Given the description of an element on the screen output the (x, y) to click on. 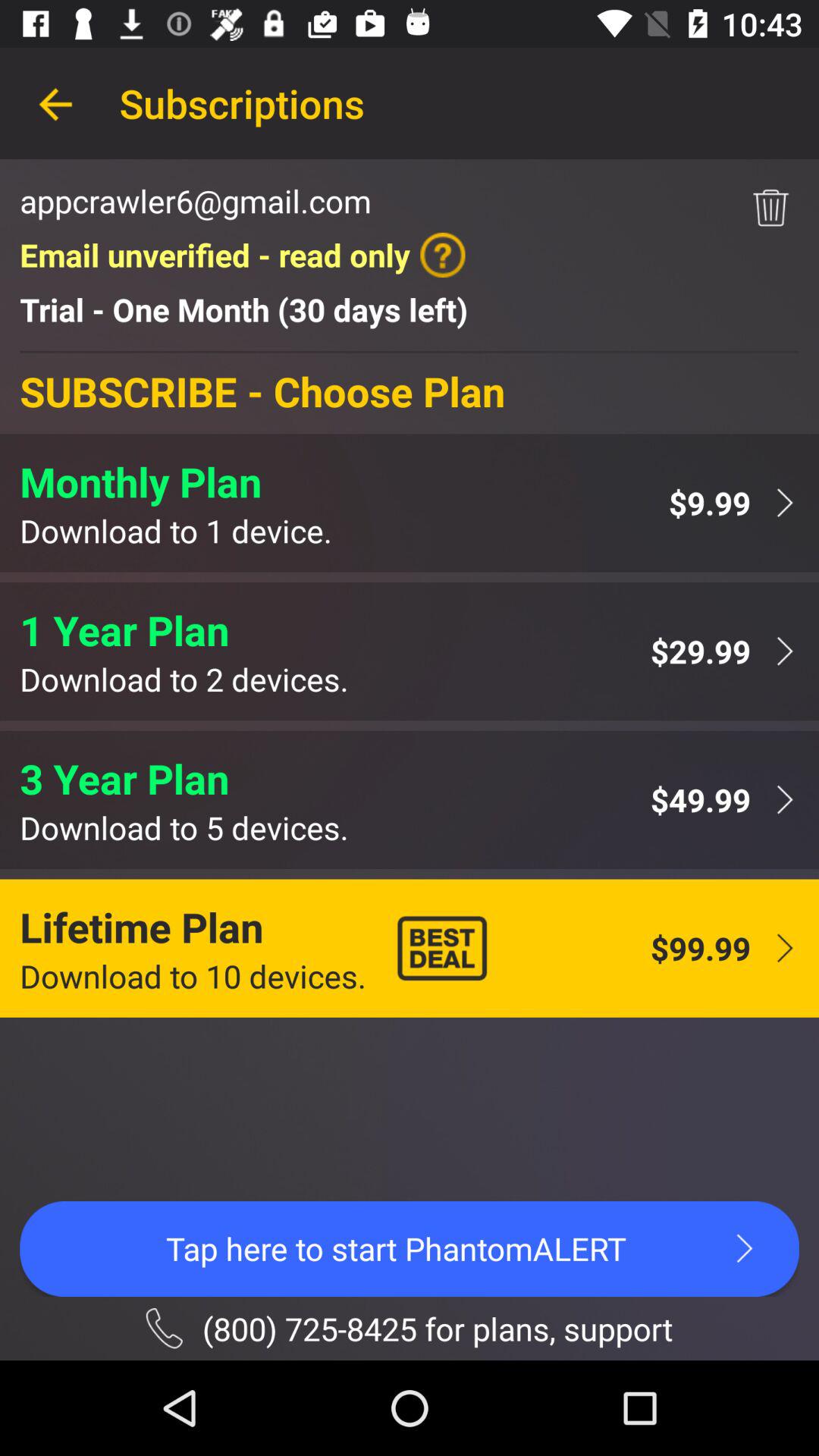
launch the icon above appcrawler6@gmail.com icon (55, 103)
